Given the description of an element on the screen output the (x, y) to click on. 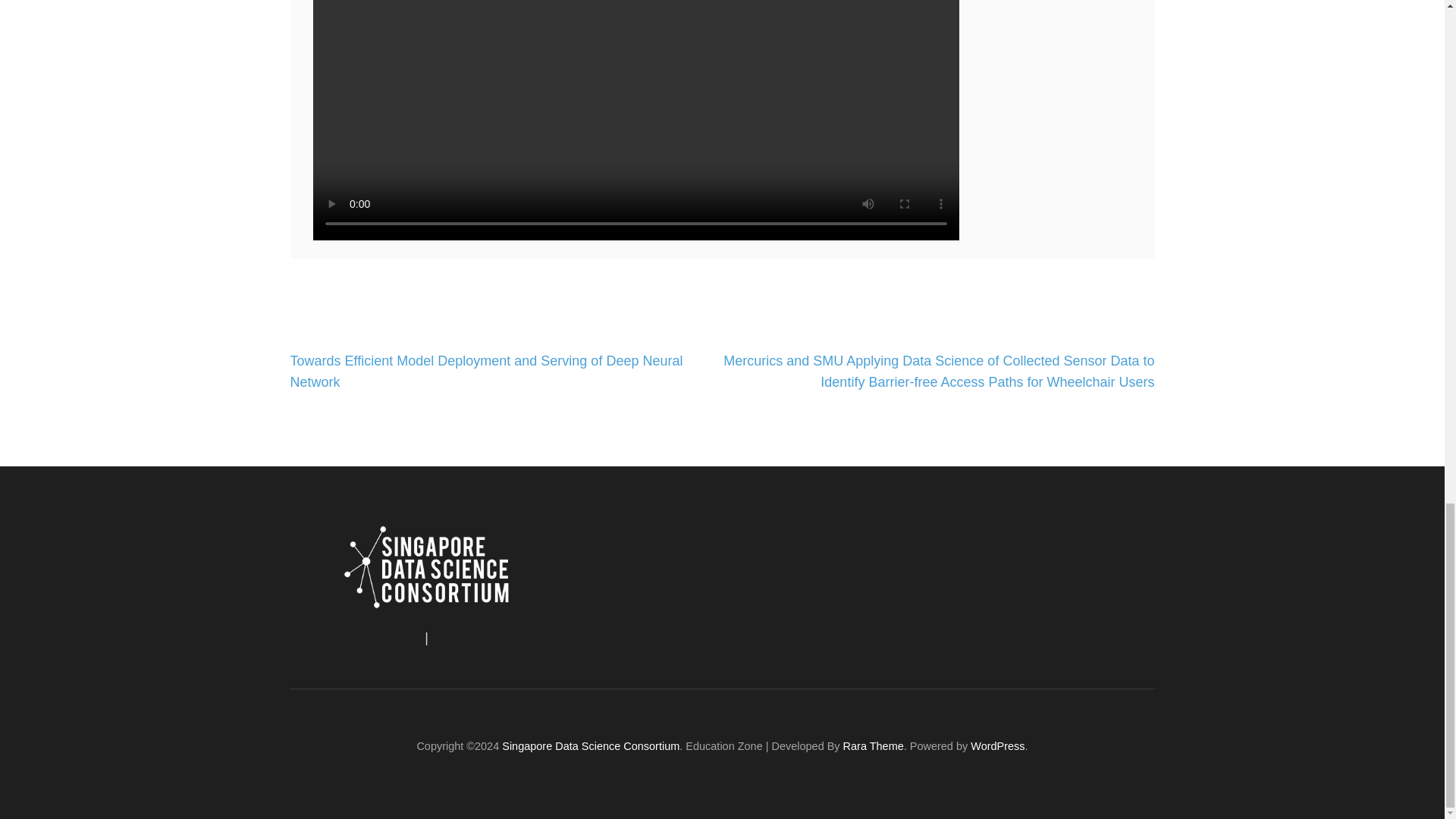
Singapore Data Science Consortium (590, 746)
